Given the description of an element on the screen output the (x, y) to click on. 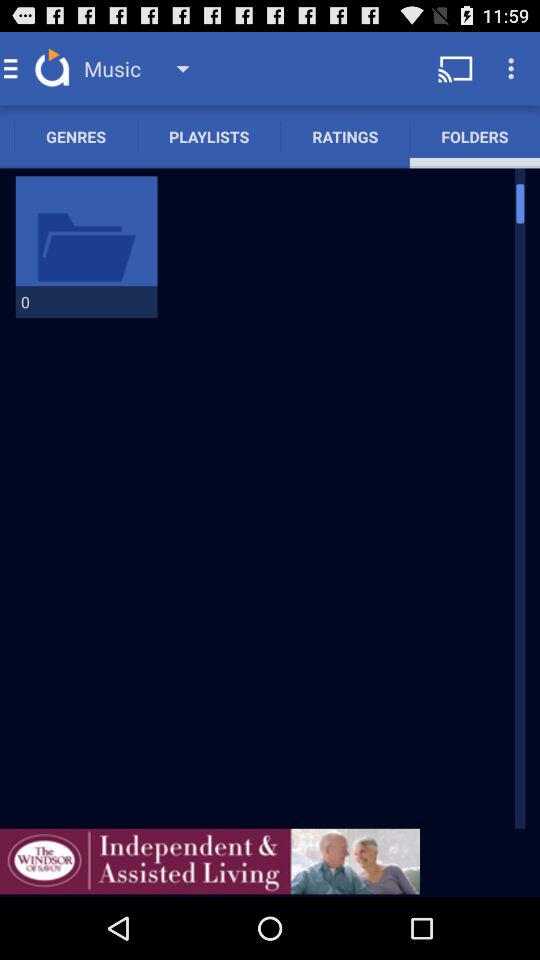
open advertisement (210, 861)
